Given the description of an element on the screen output the (x, y) to click on. 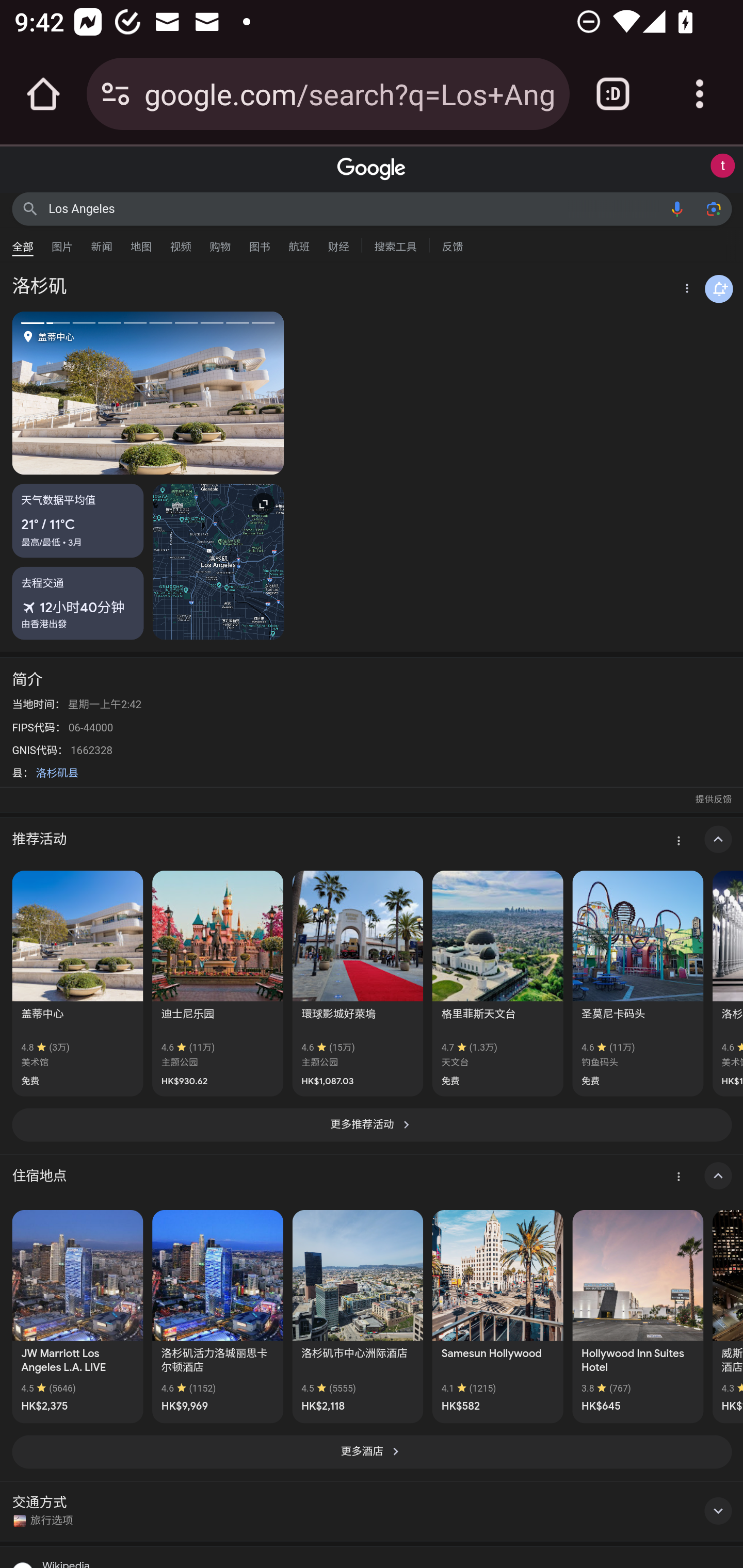
Open the home page (43, 93)
Connection is secure (115, 93)
Switch or close tabs (612, 93)
Customize and control Google Chrome (699, 93)
Google (371, 169)
Google 账号： test appium (testappium002@gmail.com) (722, 165)
Google 搜索 (29, 208)
使用拍照功能或照片进行搜索 (712, 208)
Los Angeles (353, 208)
图片 (62, 241)
新闻 (101, 241)
地图 (141, 241)
视频 (180, 241)
购物 (219, 241)
图书 (259, 241)
航班 (299, 241)
财经 (338, 241)
搜索工具 (395, 244)
反馈 (452, 244)
接收关于“洛杉矶”的通知 (718, 288)
更多选项 (685, 289)
上一张图片 (79, 392)
下一张图片 (215, 392)
天气数据平均值 21° / 11°C 最高/最低 • 3月 (77, 520)
展开地图 (217, 560)
去程交通 12小时40分钟 乘坐飞机 由香港出發 (77, 602)
洛杉矶县 (56, 772)
提供反馈 (713, 799)
推荐活动 … 洛杉矶的推荐活动 (371, 838)
盖蒂中心 评分为 4.8 星（最高 5 星）， (3万) 美术馆 免费 (77, 983)
迪士尼乐园 评分为 4.6 星（最高 5 星）， (11万) 主题公园 HK$930.62 (217, 983)
環球影城好萊塢 评分为 4.6 星（最高 5 星）， (15万) 主题公园 HK$1,087.03 (357, 983)
格里菲斯天文台 评分为 4.7 星（最高 5 星）， (1.3万) 天文台 免费 (497, 983)
圣莫尼卡码头 评分为 4.6 星（最高 5 星）， (11万) 钓鱼码头 免费 (637, 983)
更多推荐活动 (371, 1124)
住宿地点 … 洛杉矶的酒店 (371, 1175)
洛杉矶市中心洲际酒店 4.5 评分为 4.5 星（最高 5 星）， (5555) HK$2,118 (357, 1315)
更多酒店 (371, 1451)
交通方式 … 旅行选项 (371, 1510)
